Given the description of an element on the screen output the (x, y) to click on. 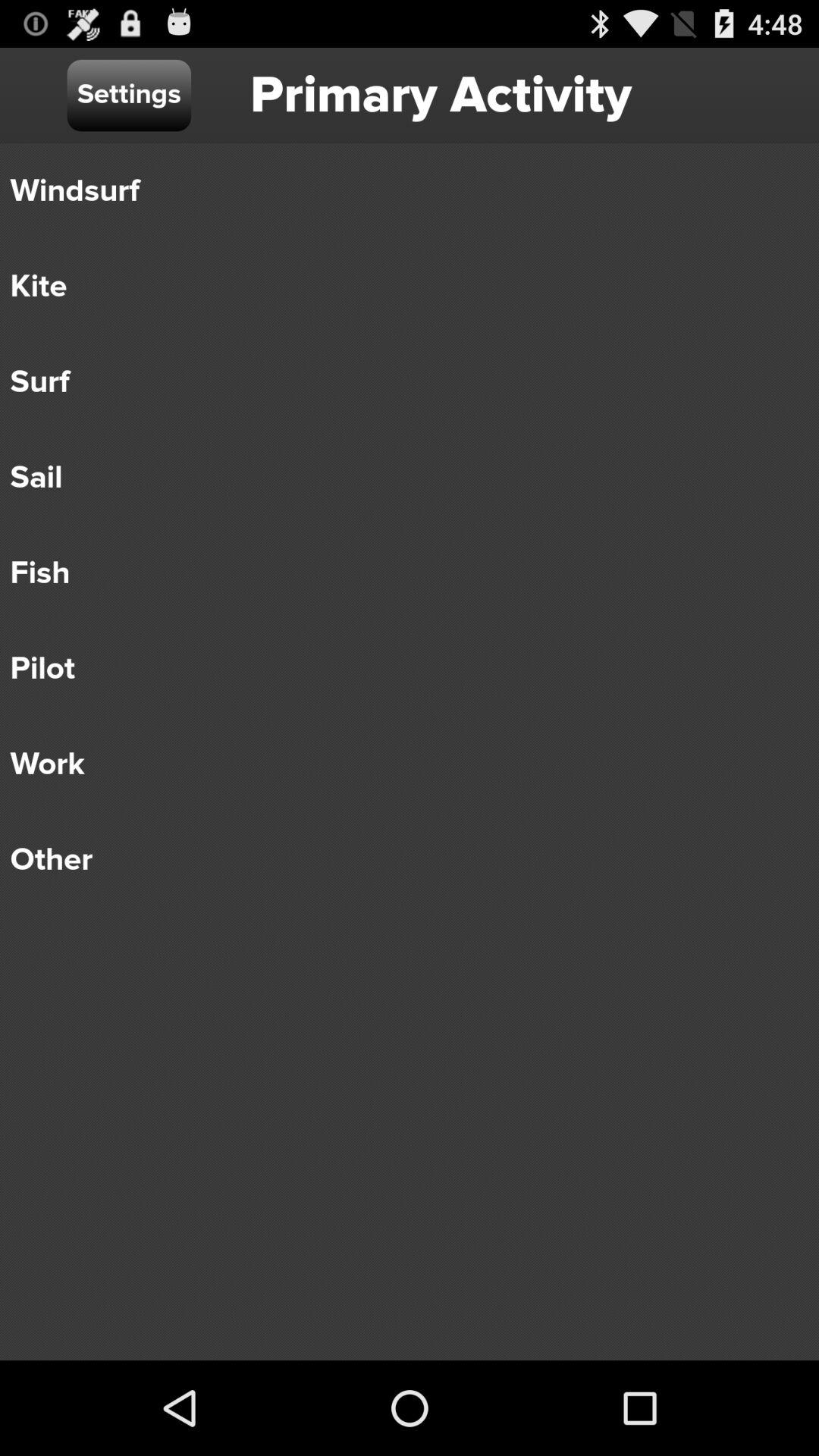
swipe until the other item (399, 859)
